Given the description of an element on the screen output the (x, y) to click on. 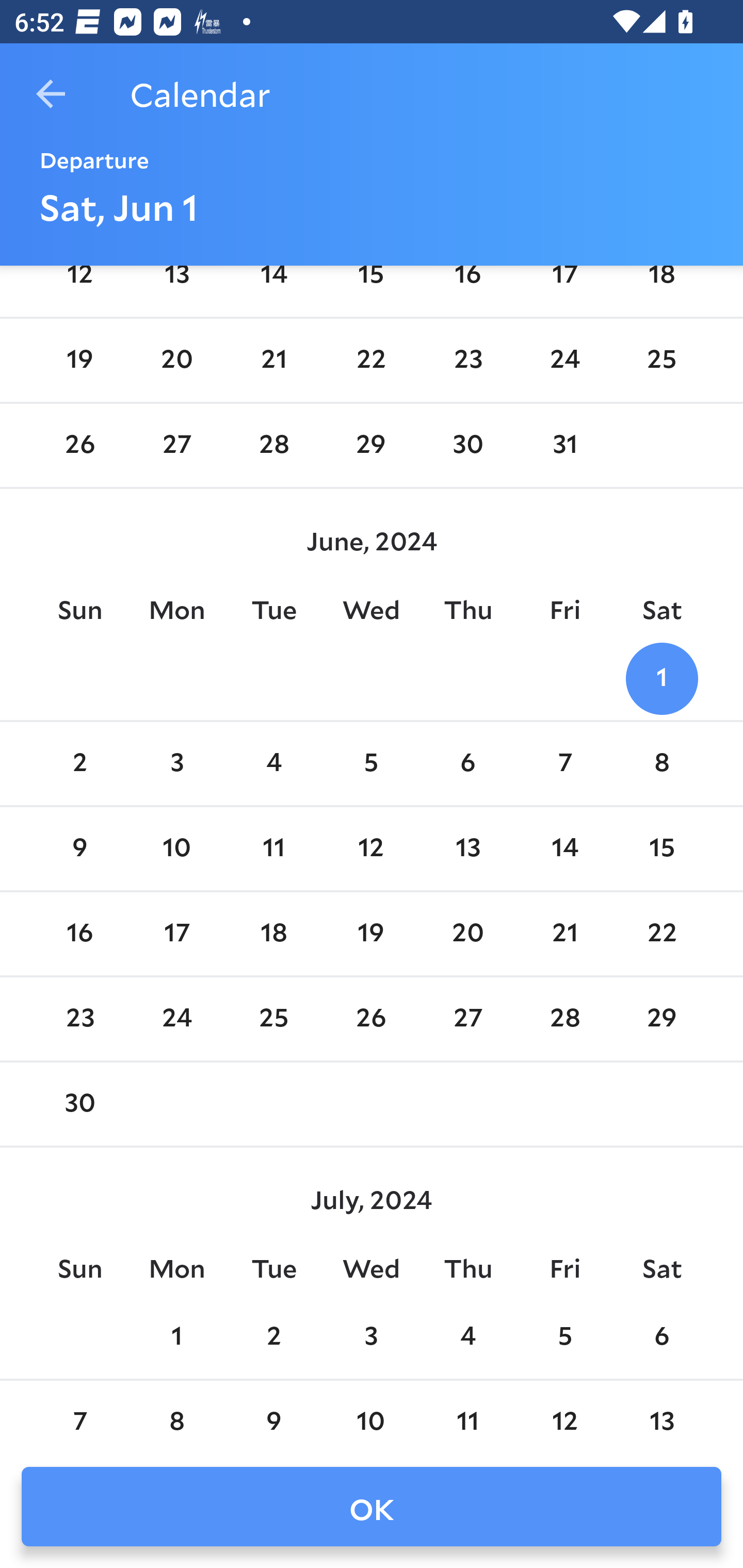
Navigate up (50, 93)
12 (79, 288)
13 (177, 288)
14 (273, 288)
15 (371, 288)
16 (467, 288)
17 (565, 288)
18 (661, 288)
19 (79, 360)
20 (177, 360)
21 (273, 360)
22 (371, 360)
23 (467, 360)
24 (565, 360)
25 (661, 360)
26 (79, 445)
27 (177, 445)
28 (273, 445)
29 (371, 445)
30 (467, 445)
31 (565, 445)
1 (661, 678)
2 (79, 763)
3 (177, 763)
4 (273, 763)
5 (371, 763)
6 (467, 763)
7 (565, 763)
8 (661, 763)
9 (79, 848)
10 (177, 848)
11 (273, 848)
12 (371, 848)
13 (467, 848)
14 (565, 848)
15 (661, 848)
16 (79, 934)
17 (177, 934)
18 (273, 934)
19 (371, 934)
20 (467, 934)
21 (565, 934)
22 (661, 934)
23 (79, 1019)
24 (177, 1019)
25 (273, 1019)
26 (371, 1019)
27 (467, 1019)
28 (565, 1019)
29 (661, 1019)
